Given the description of an element on the screen output the (x, y) to click on. 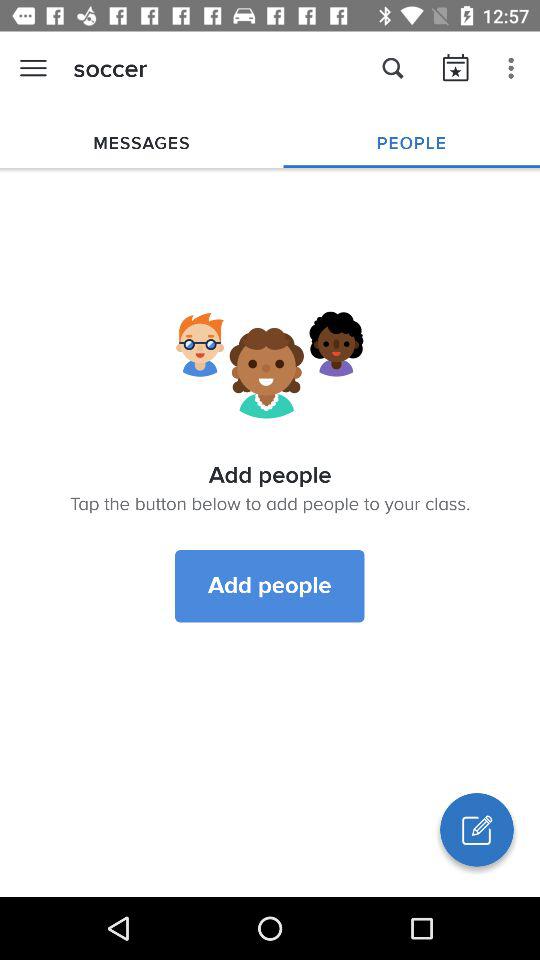
add option (477, 829)
